Given the description of an element on the screen output the (x, y) to click on. 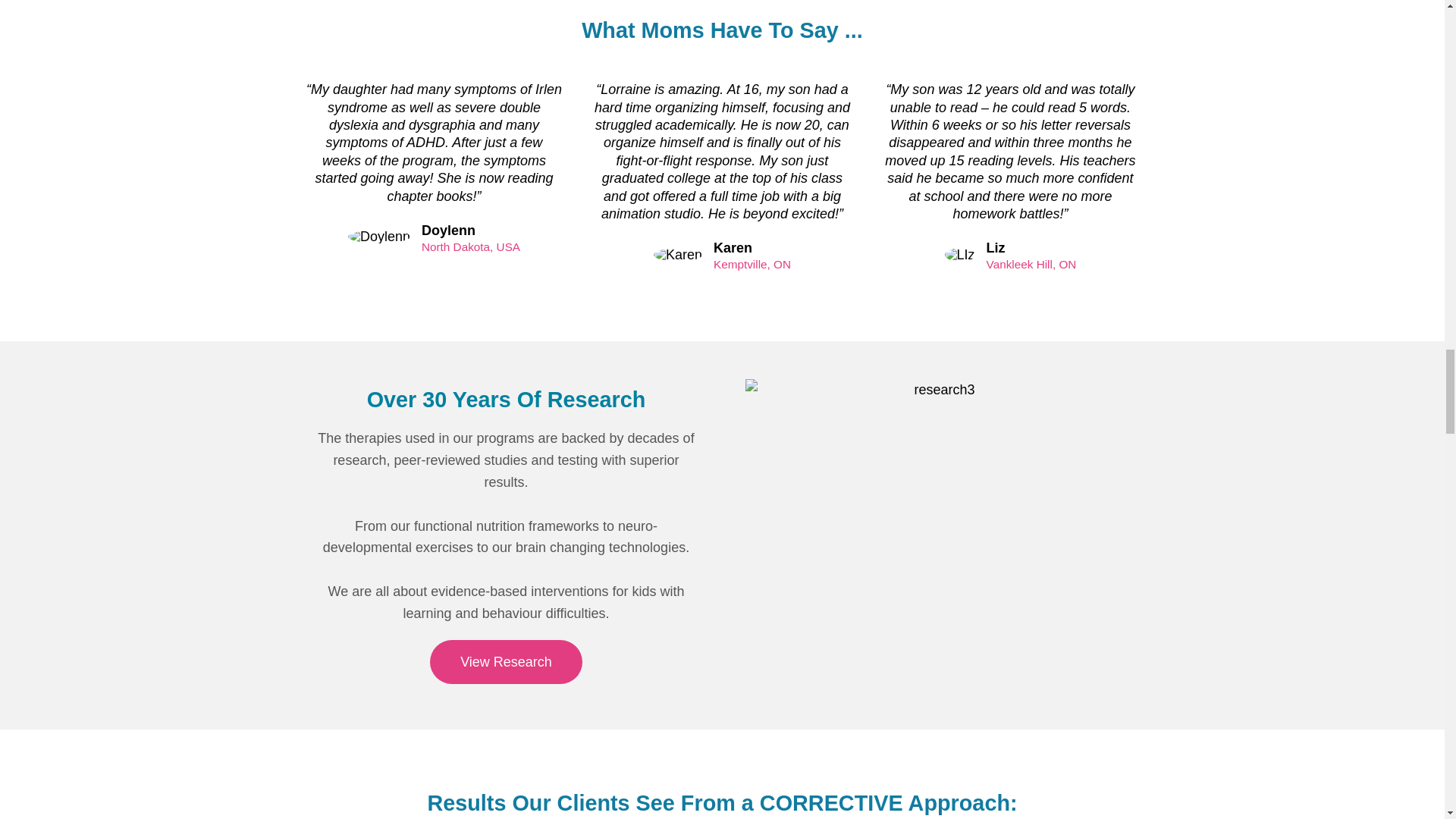
View Research (505, 661)
